Given the description of an element on the screen output the (x, y) to click on. 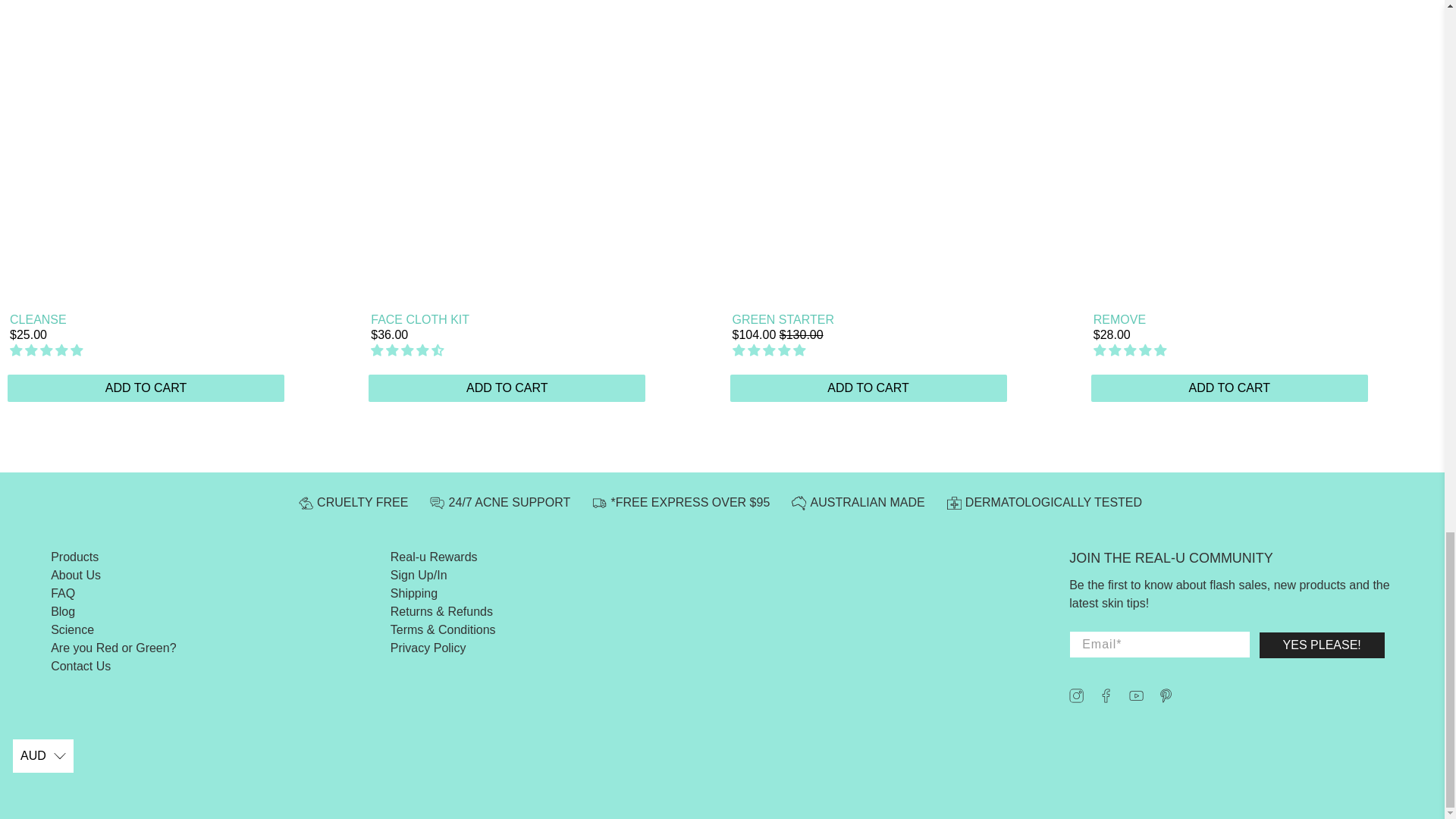
real-u on Pinterest (1165, 698)
real-u on Facebook (1106, 698)
real-u on YouTube (1135, 698)
real-u on Instagram (1075, 698)
